Given the description of an element on the screen output the (x, y) to click on. 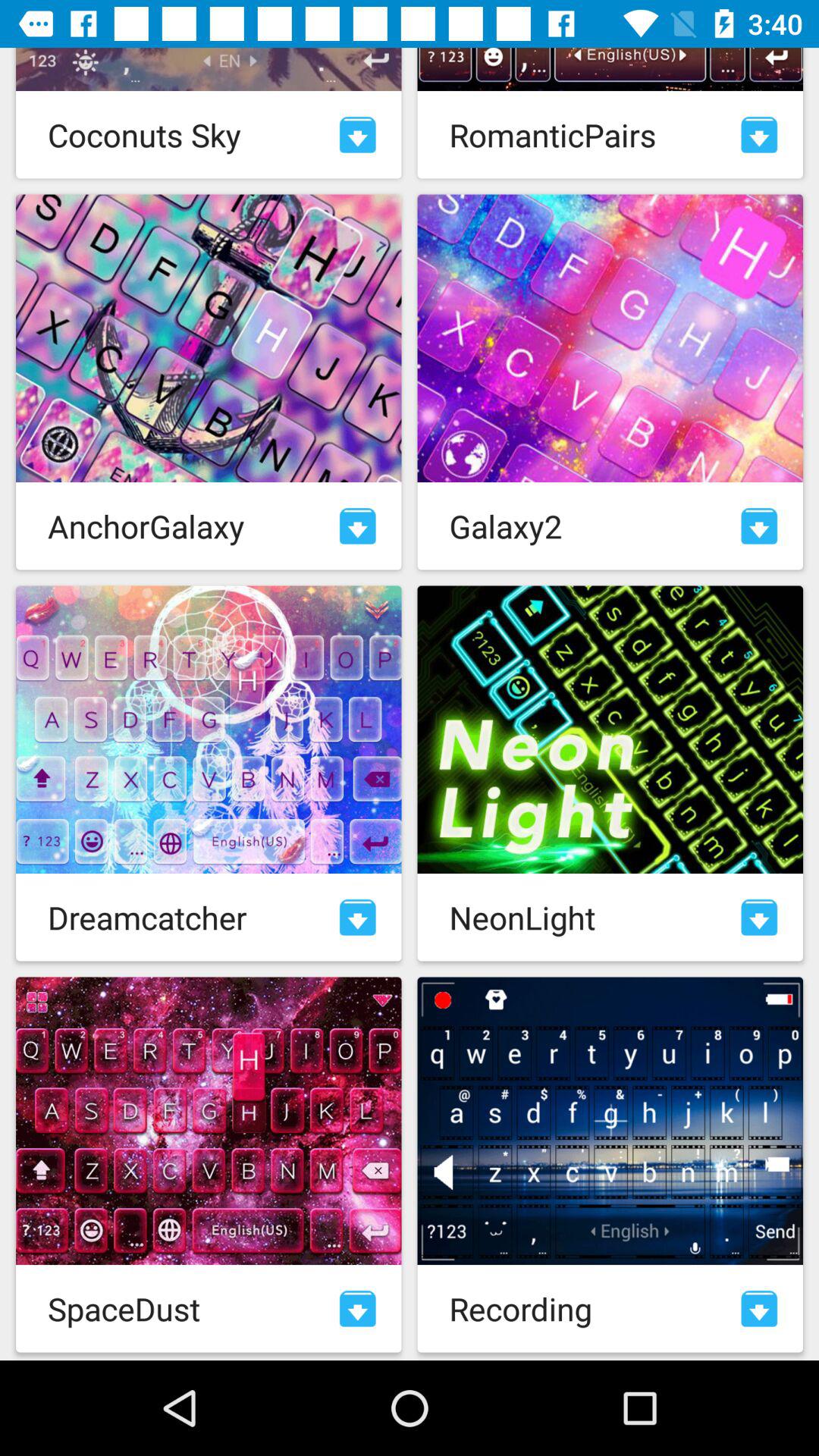
download spacedust (357, 1308)
